Given the description of an element on the screen output the (x, y) to click on. 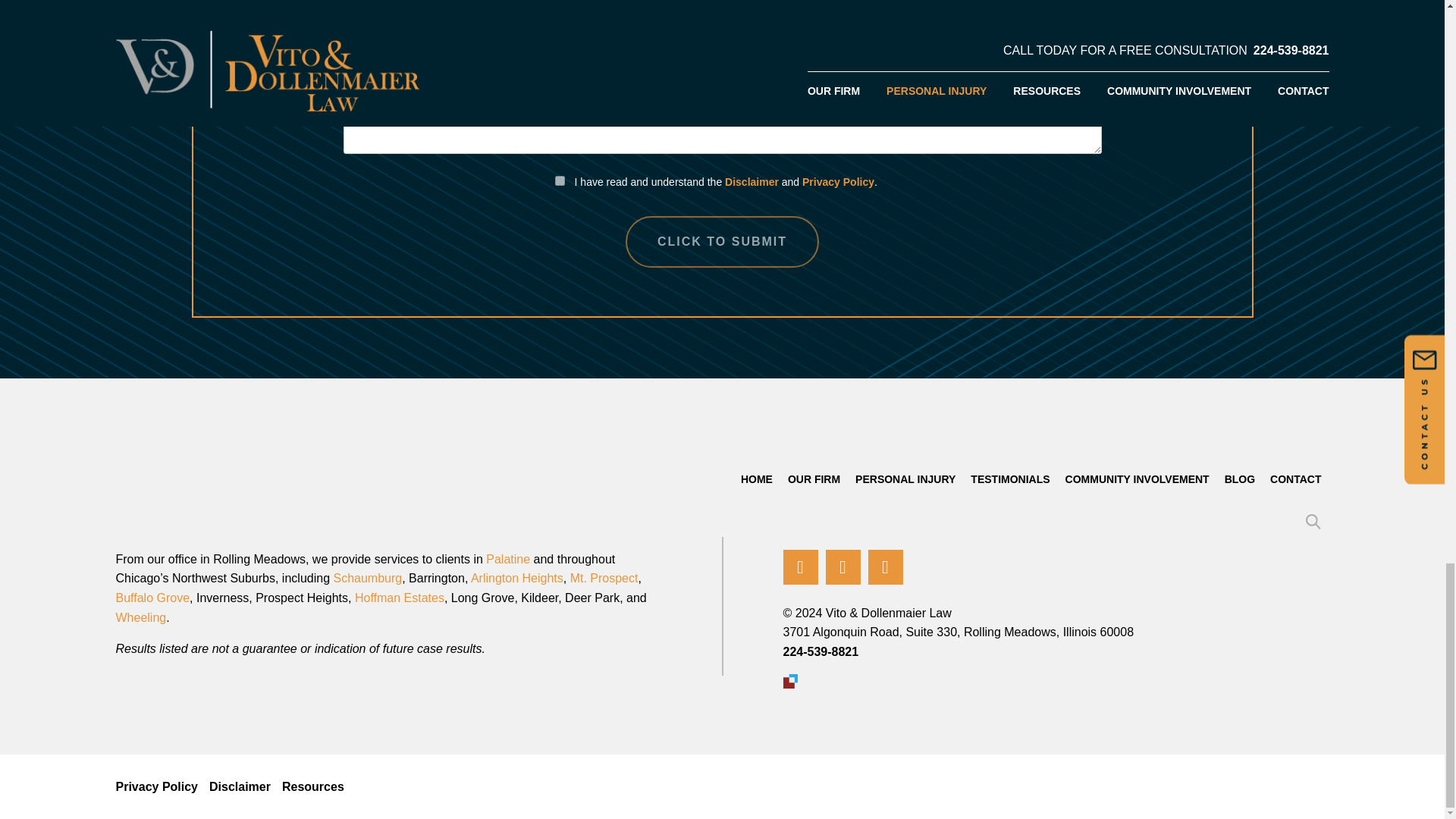
1 (559, 180)
